Given the description of an element on the screen output the (x, y) to click on. 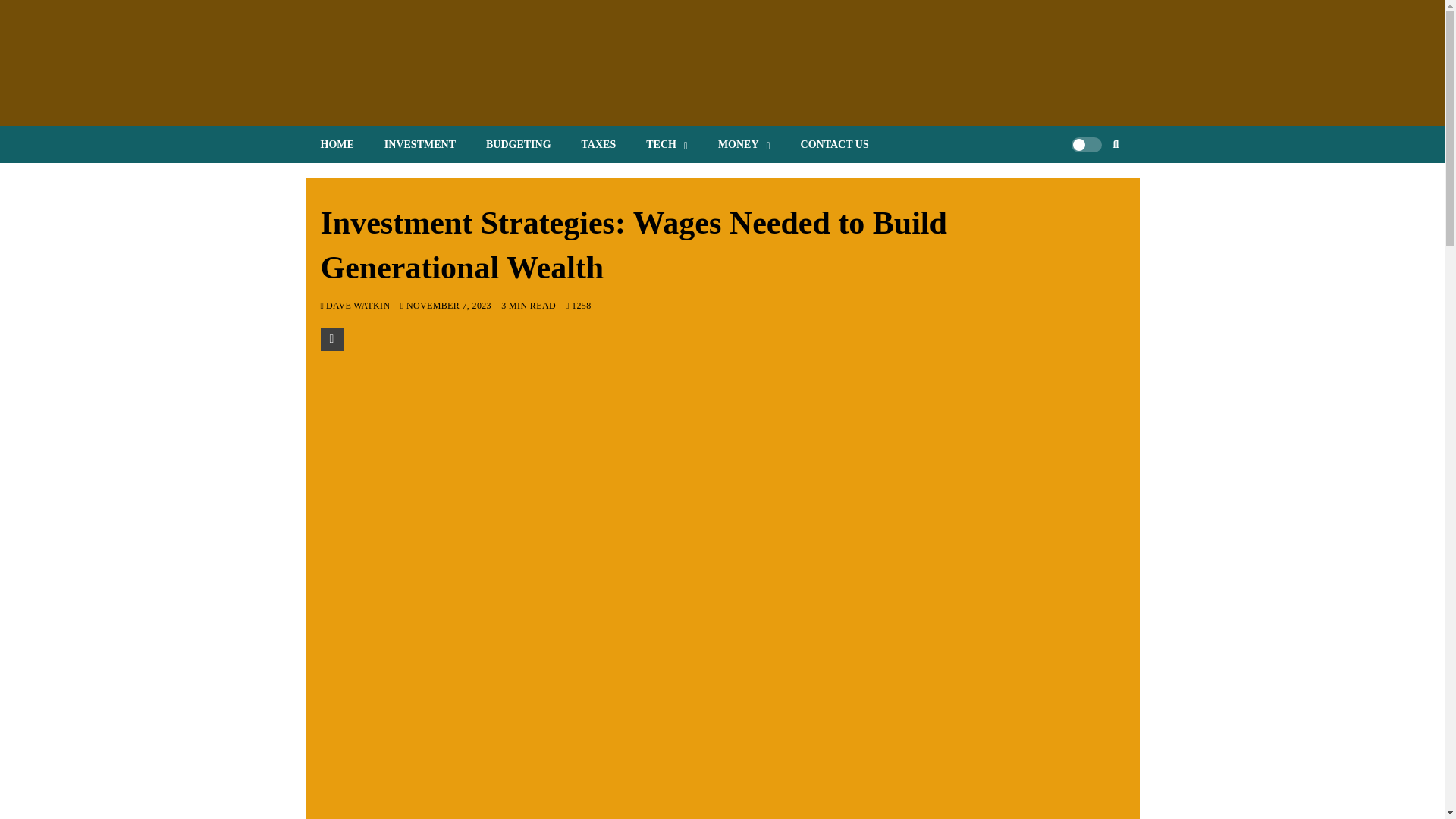
INVESTMENT (419, 144)
TAXES (598, 144)
DAVE WATKIN (359, 305)
CONTACT US (834, 144)
BUDGETING (518, 144)
1258 (578, 305)
TECH (666, 144)
MONEY (744, 144)
HOME (336, 144)
Search (1092, 190)
